Given the description of an element on the screen output the (x, y) to click on. 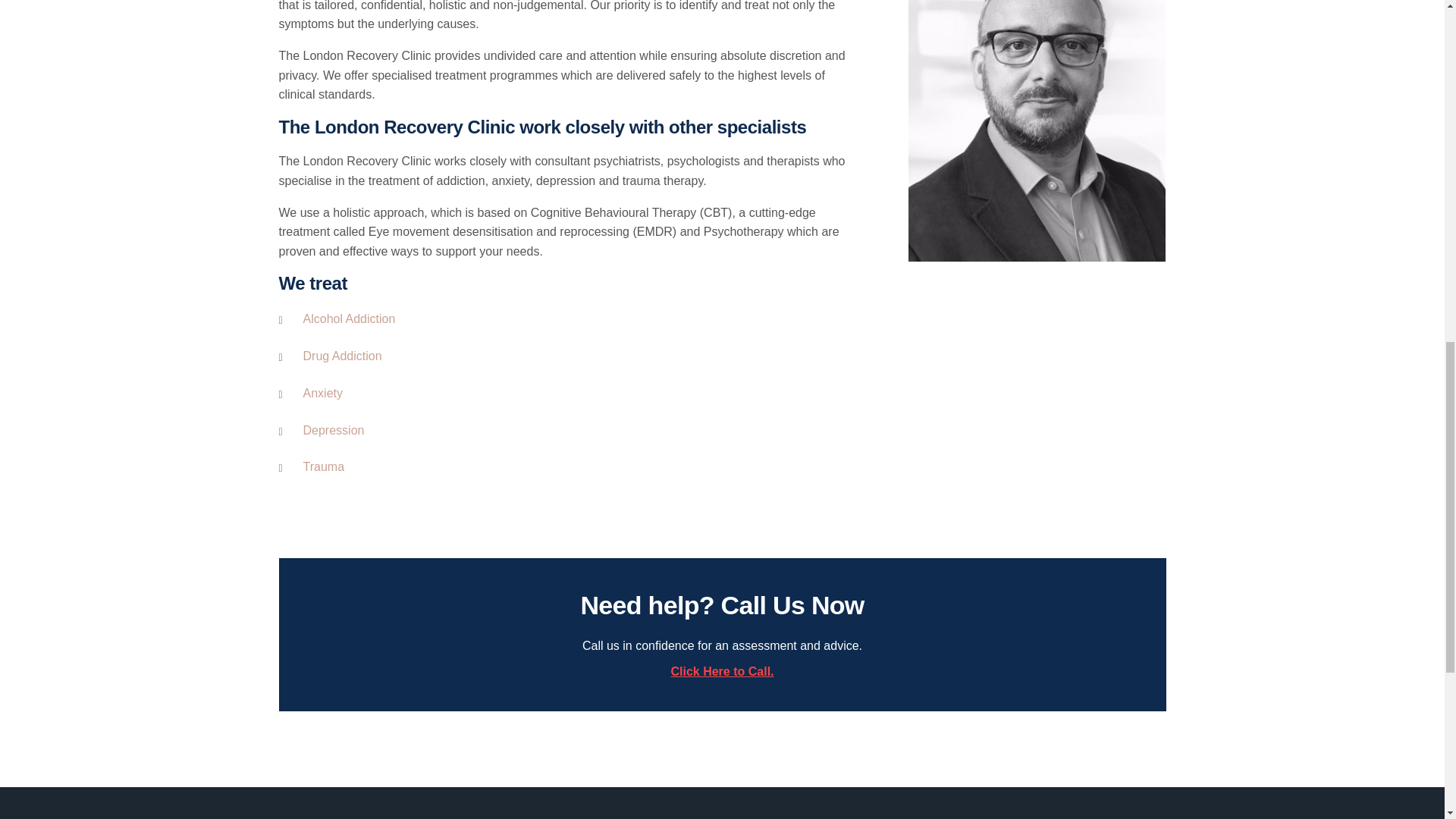
Depression (333, 430)
Anxiety (322, 392)
Alcohol Addiction (349, 318)
Drug Addiction (341, 355)
Trauma (323, 466)
Click Here to Call. (721, 672)
